Given the description of an element on the screen output the (x, y) to click on. 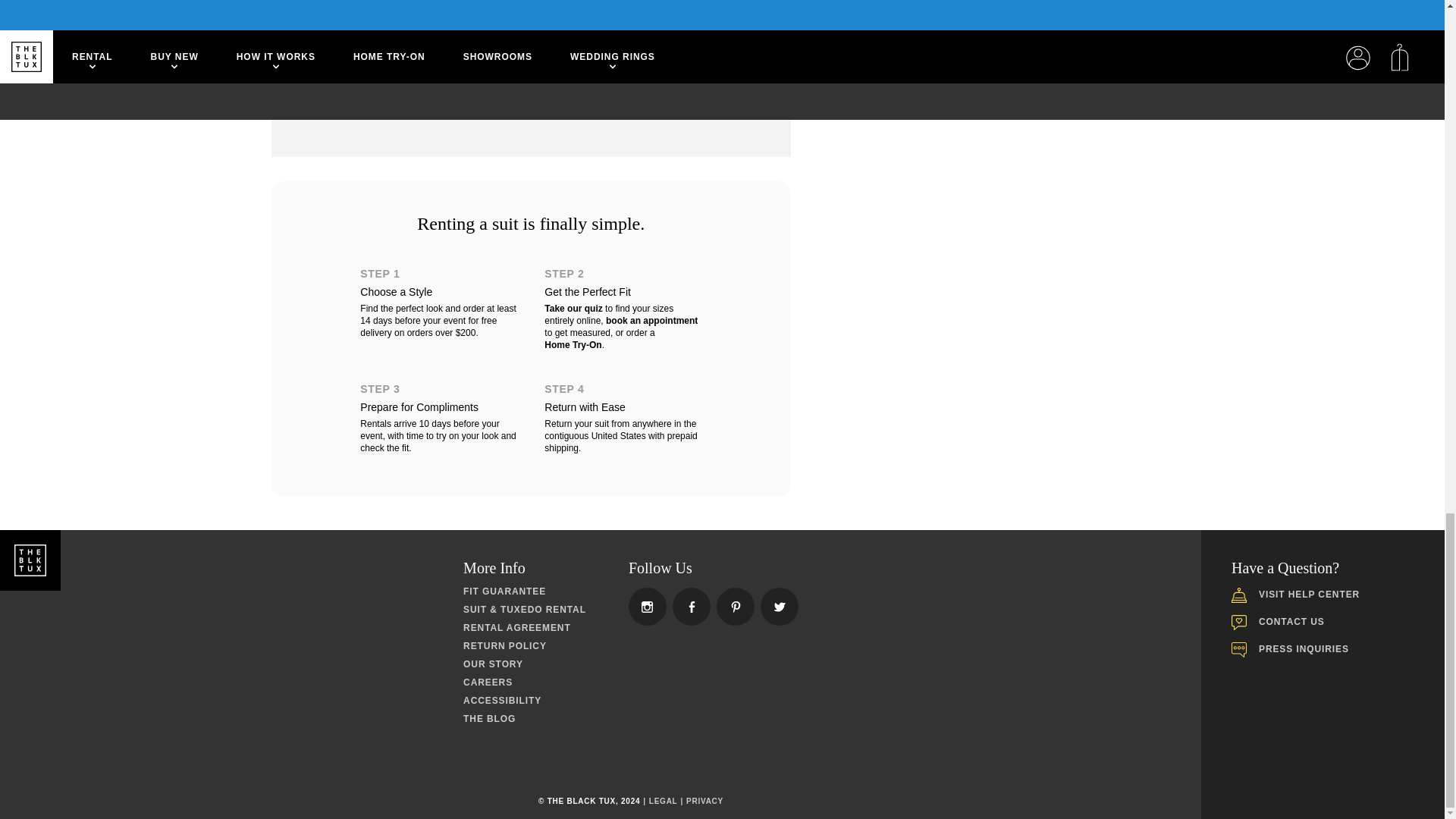
Instagram (735, 606)
Instagram (646, 606)
Instagram (779, 606)
Instagram (691, 606)
